Given the description of an element on the screen output the (x, y) to click on. 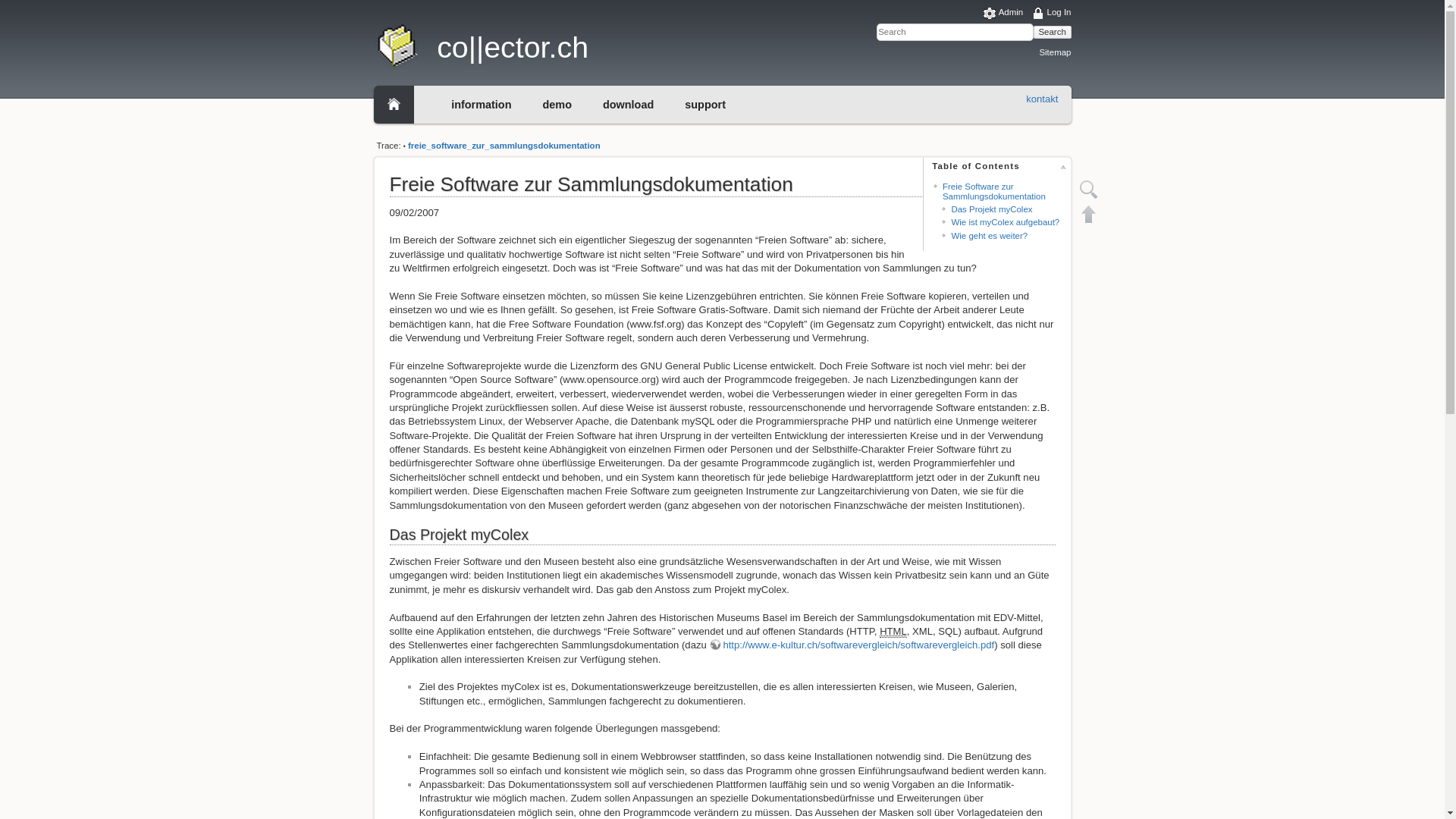
Wie geht es weiter? Element type: text (988, 235)
Das Projekt myColex Element type: text (991, 208)
demo Element type: text (557, 104)
Freie Software zur Sammlungsdokumentation Element type: text (993, 191)
Show pagesource [V] Element type: hover (1088, 189)
freie_software_zur_sammlungsdokumentation Element type: text (503, 145)
Wie ist myColex aufgebaut? Element type: text (1004, 221)
[F] Element type: hover (954, 31)
Log In Element type: text (1051, 12)
co||ector.ch Element type: text (544, 43)
information Element type: text (480, 104)
Sitemap Element type: text (1054, 51)
download Element type: text (628, 104)
Back to top [T] Element type: hover (1088, 213)
support Element type: text (705, 104)
Search Element type: text (1052, 31)
Admin Element type: text (1003, 12)
kontakt Element type: text (1041, 98)
